Given the description of an element on the screen output the (x, y) to click on. 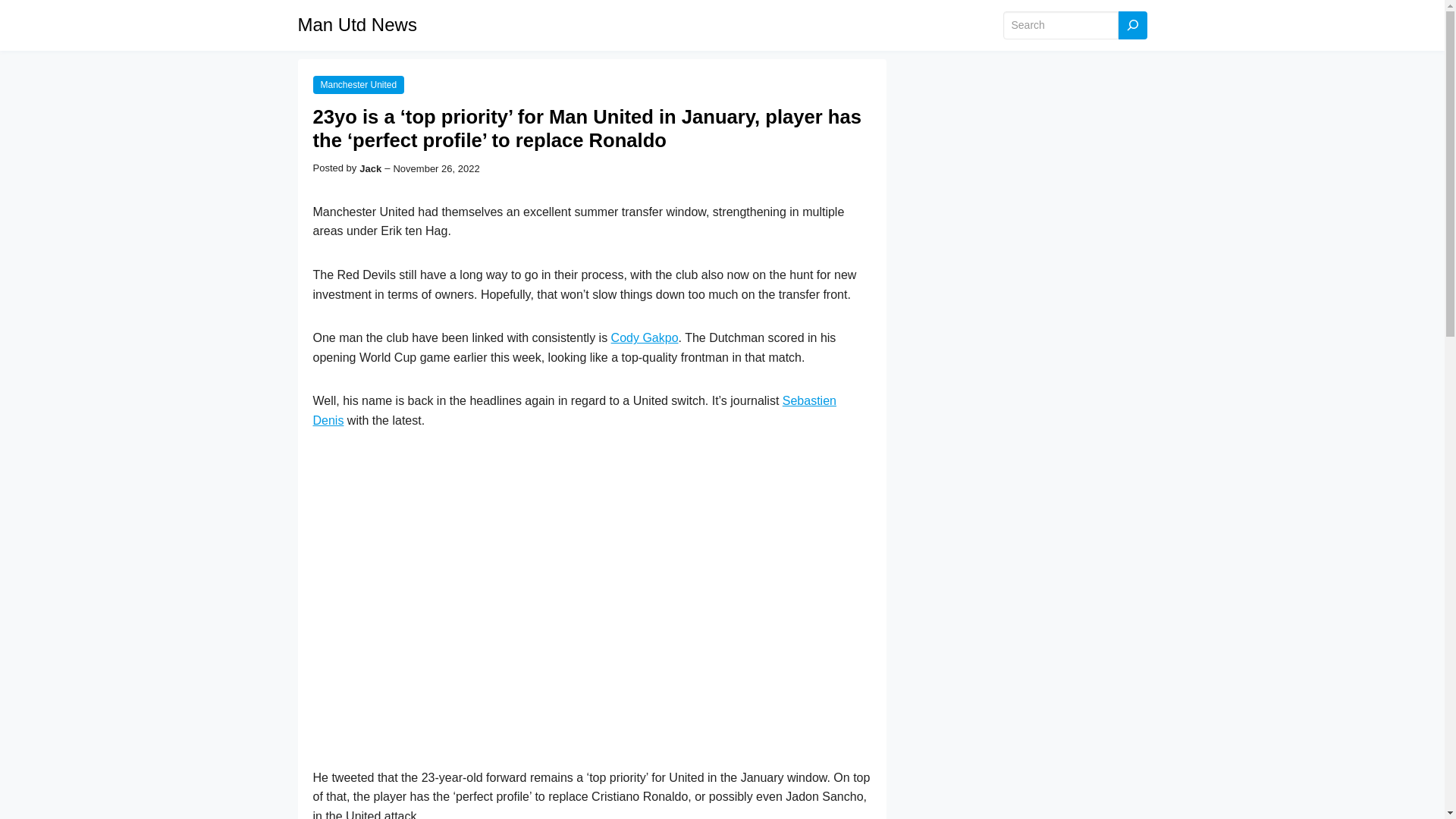
Manchester United (358, 85)
Sebastien Denis (574, 409)
Cody Gakpo (644, 337)
Man Utd News (356, 24)
